Given the description of an element on the screen output the (x, y) to click on. 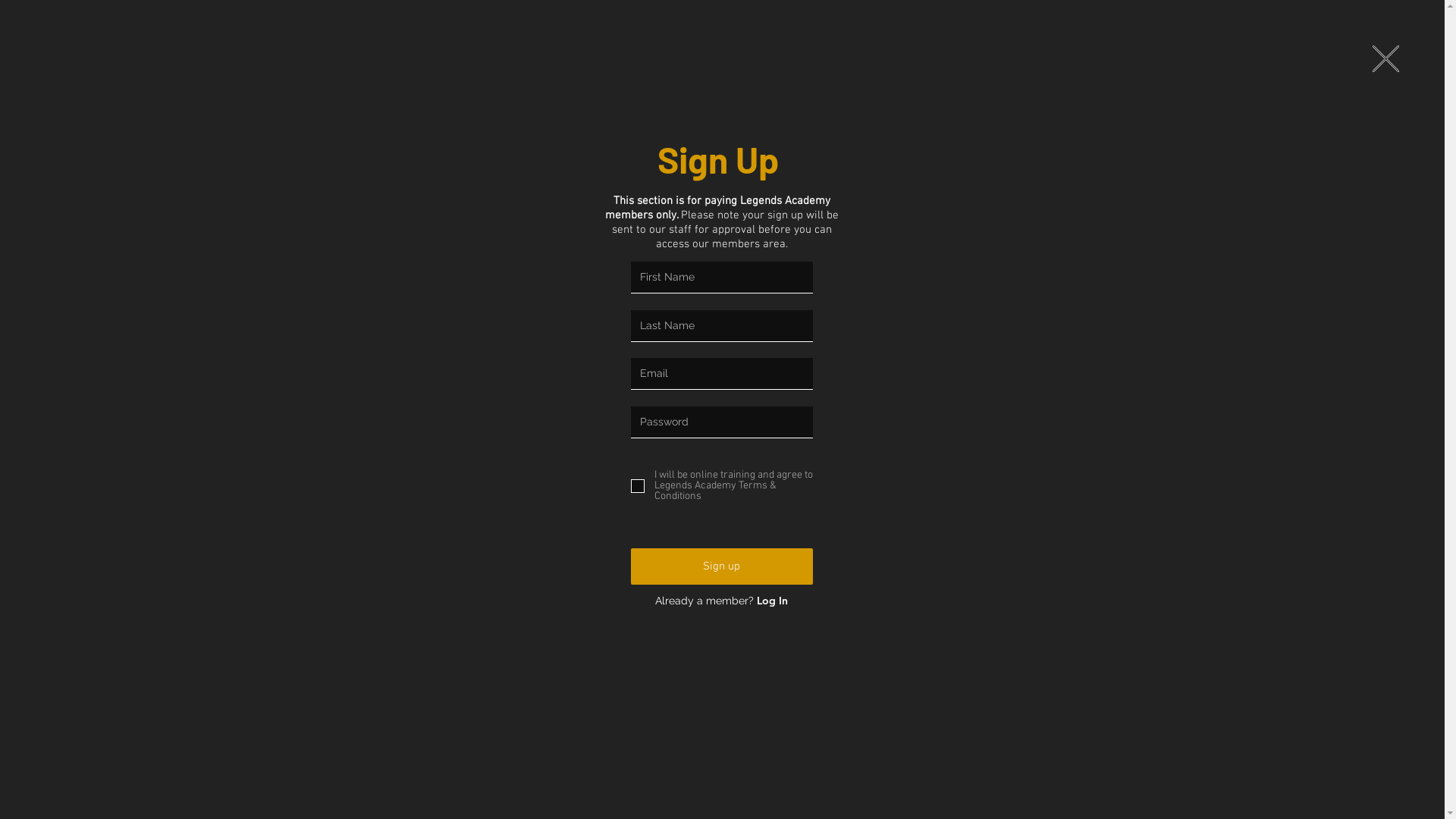
Sign up Element type: text (721, 566)
Back to site Element type: hover (1385, 58)
